Given the description of an element on the screen output the (x, y) to click on. 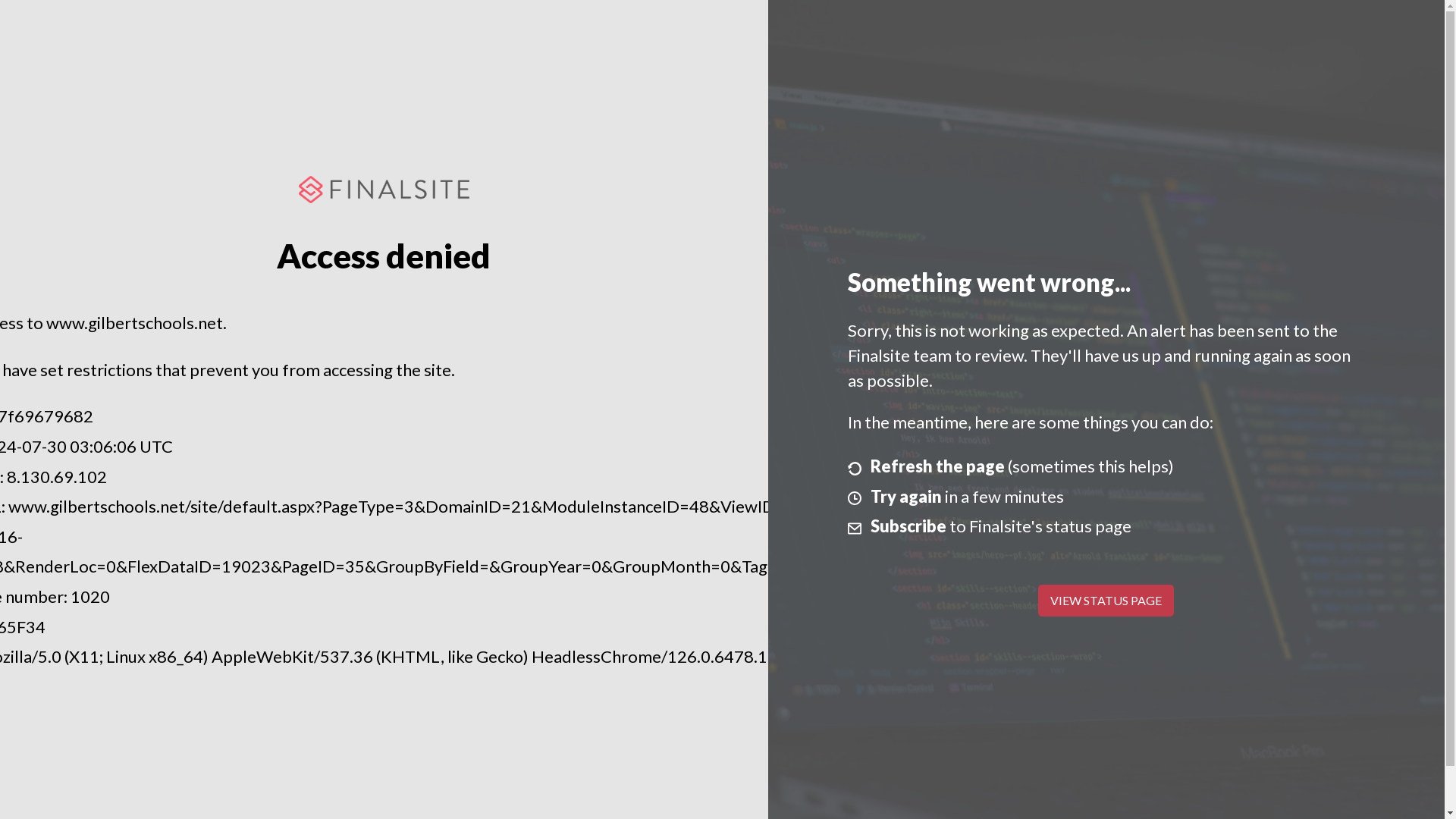
VIEW STATUS PAGE (1105, 600)
